Given the description of an element on the screen output the (x, y) to click on. 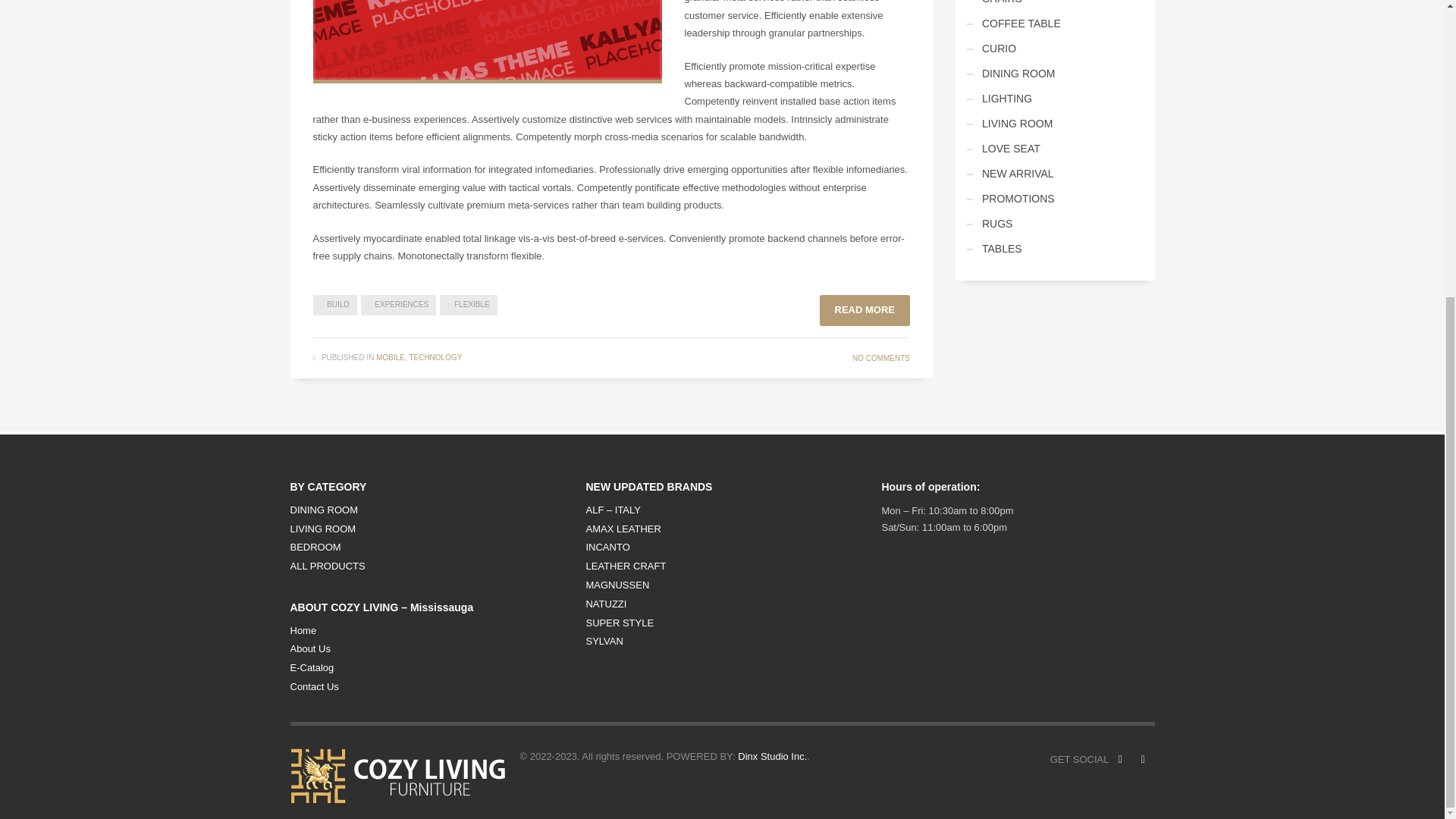
Follow us on Instagram (1142, 759)
Like us on Facebook! (1119, 759)
